Given the description of an element on the screen output the (x, y) to click on. 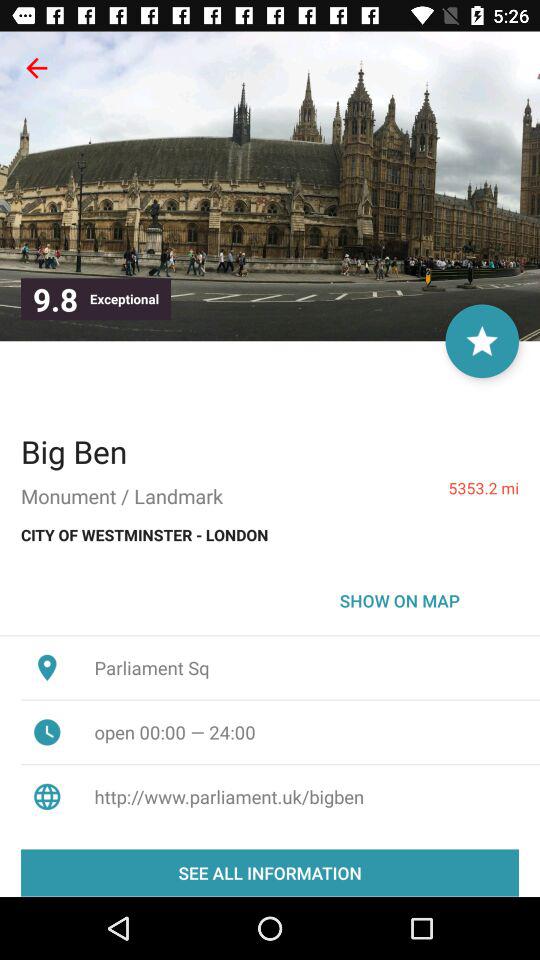
press icon above 5353.2 mi (482, 341)
